Given the description of an element on the screen output the (x, y) to click on. 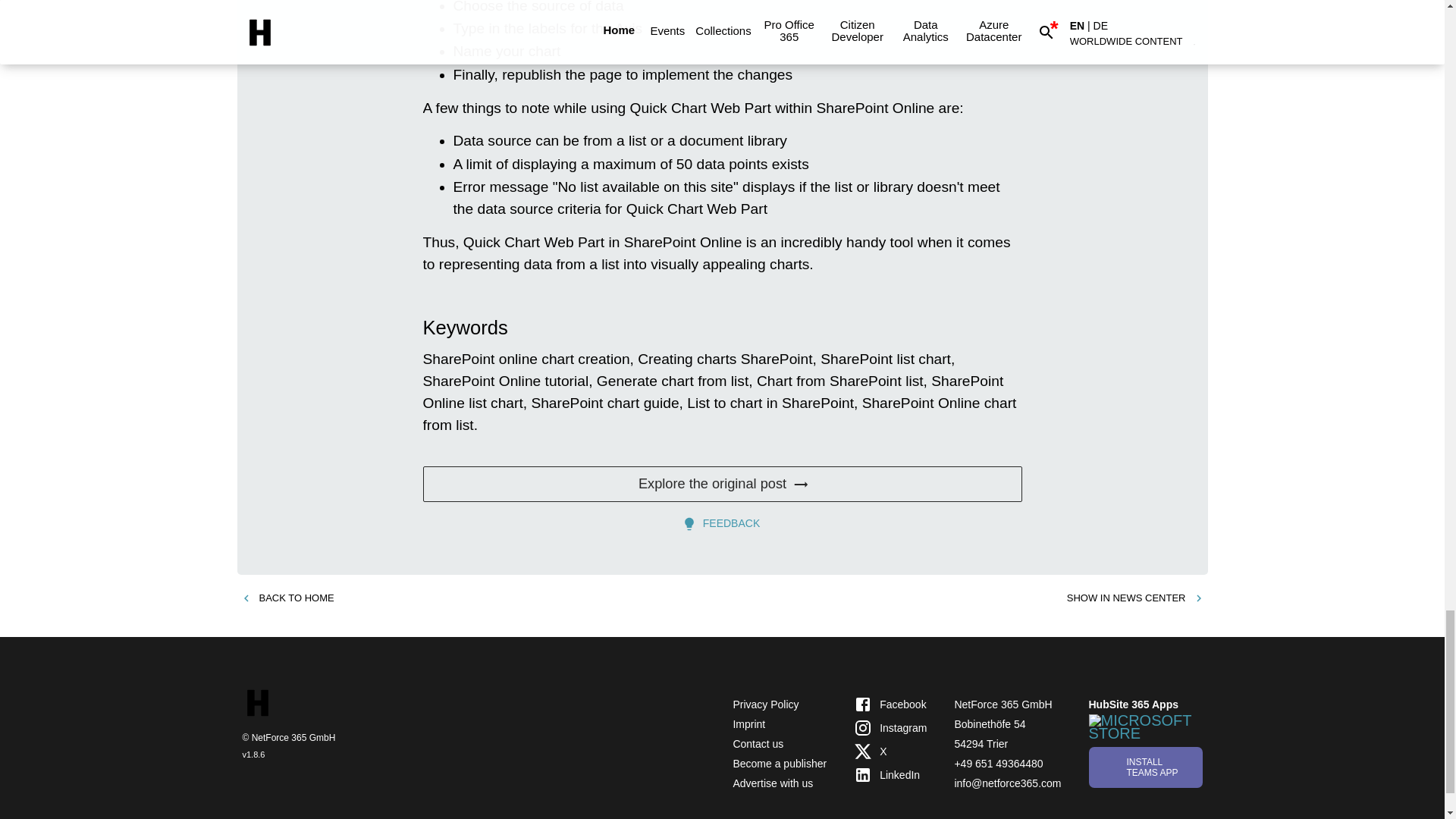
X (889, 751)
Become a publisher (779, 763)
Contact us (757, 743)
Advertise with us (772, 783)
Privacy Policy (764, 704)
LinkedIn (889, 774)
Install app (1145, 766)
SHOW IN NEWS CENTER (1135, 598)
Facebook (889, 704)
FEEDBACK (721, 523)
BACK TO HOME (286, 598)
Instagram (889, 727)
Imprint (748, 724)
NetForce 365 GmbH (1002, 704)
Explore the original post (722, 484)
